Given the description of an element on the screen output the (x, y) to click on. 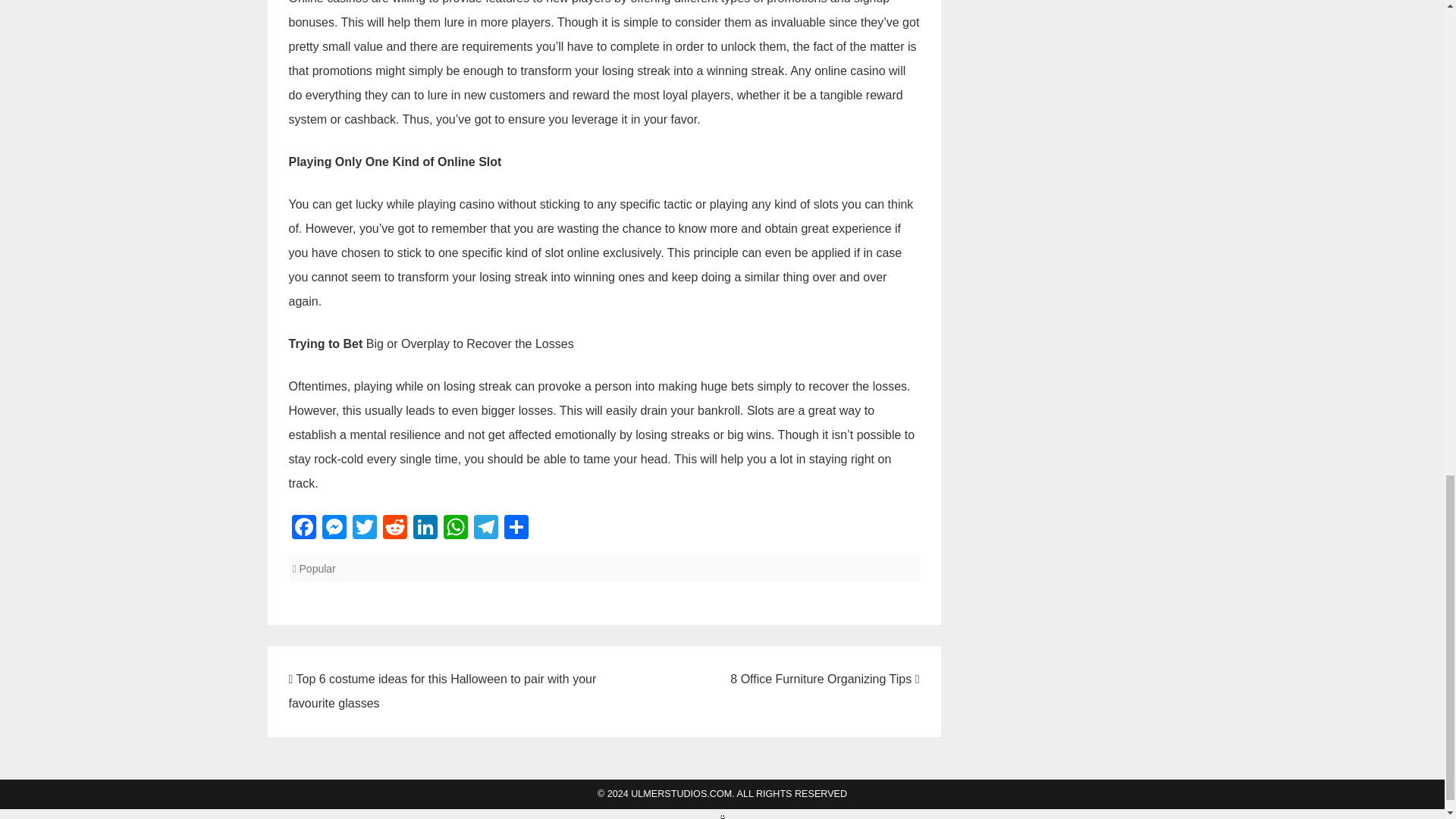
Popular (317, 568)
Reddit (393, 528)
Telegram (485, 528)
Messenger (333, 528)
Facebook (303, 528)
Reddit (393, 528)
Twitter (363, 528)
Messenger (333, 528)
WhatsApp (454, 528)
